Given the description of an element on the screen output the (x, y) to click on. 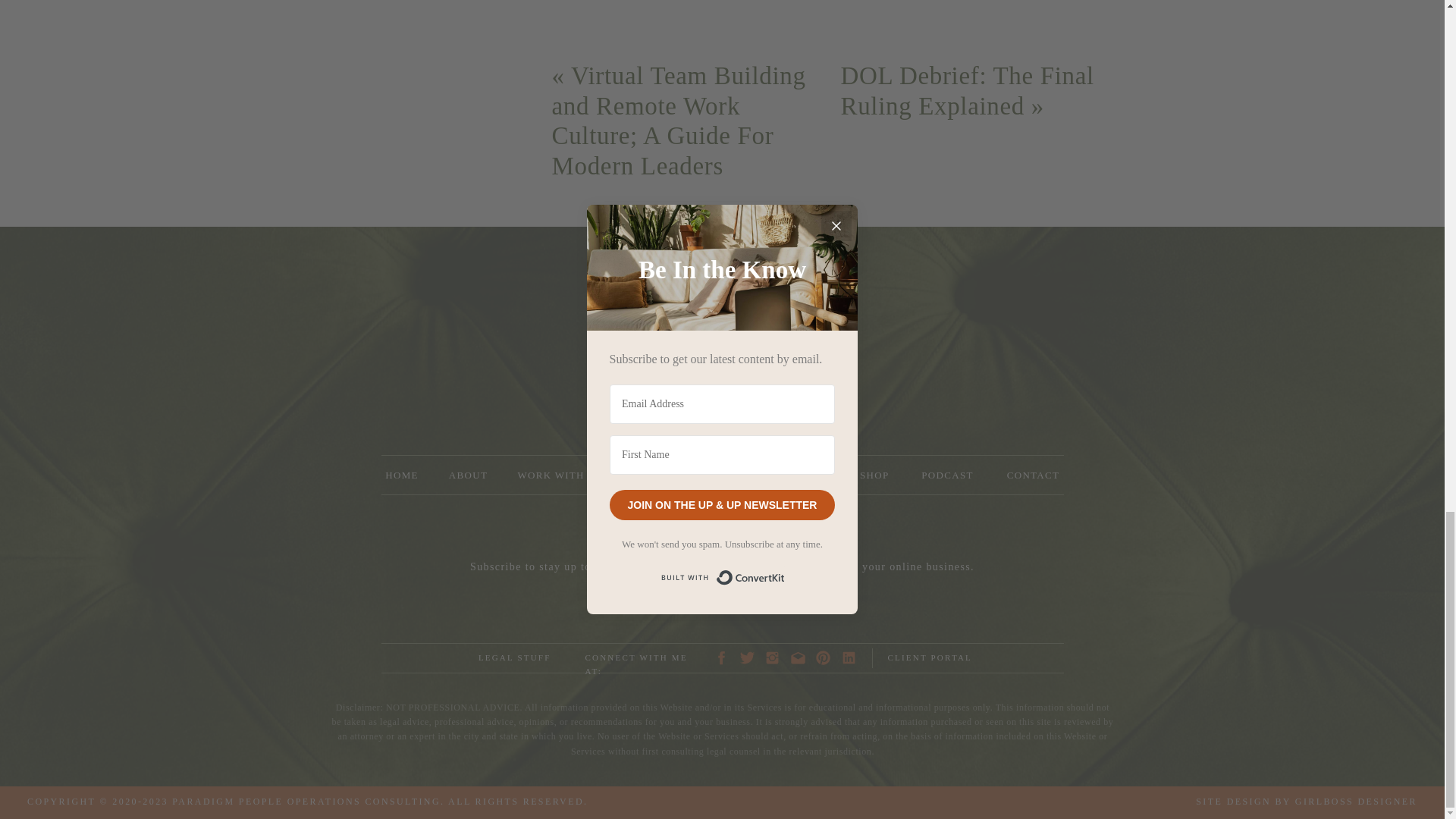
BLOG (752, 474)
SITE DESIGN BY GIRLBOSS DESIGNER (1275, 801)
RESOURCES (670, 474)
WORK WITH US (559, 474)
HOME (400, 474)
ABOUT (468, 474)
TEMPLATE SHOP (844, 474)
DOL Debrief: The Final Ruling Explained (966, 90)
CONTACT (1032, 474)
LEGAL STUFF (513, 658)
CLIENT PORTAL (946, 658)
PODCAST (946, 474)
SIGN ME UP (722, 597)
